Given the description of an element on the screen output the (x, y) to click on. 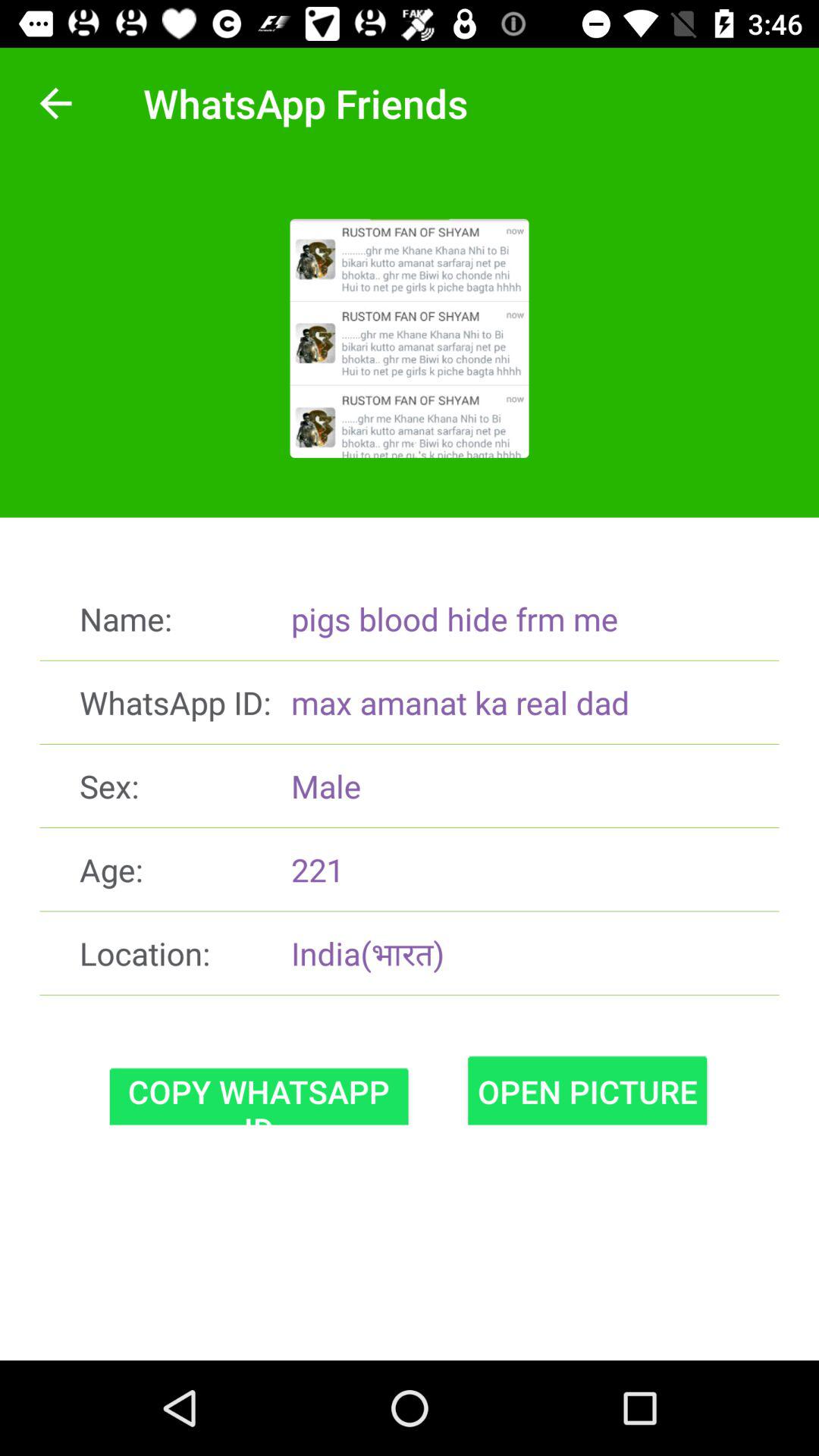
turn off item to the right of the copy whatsapp id item (587, 1089)
